Given the description of an element on the screen output the (x, y) to click on. 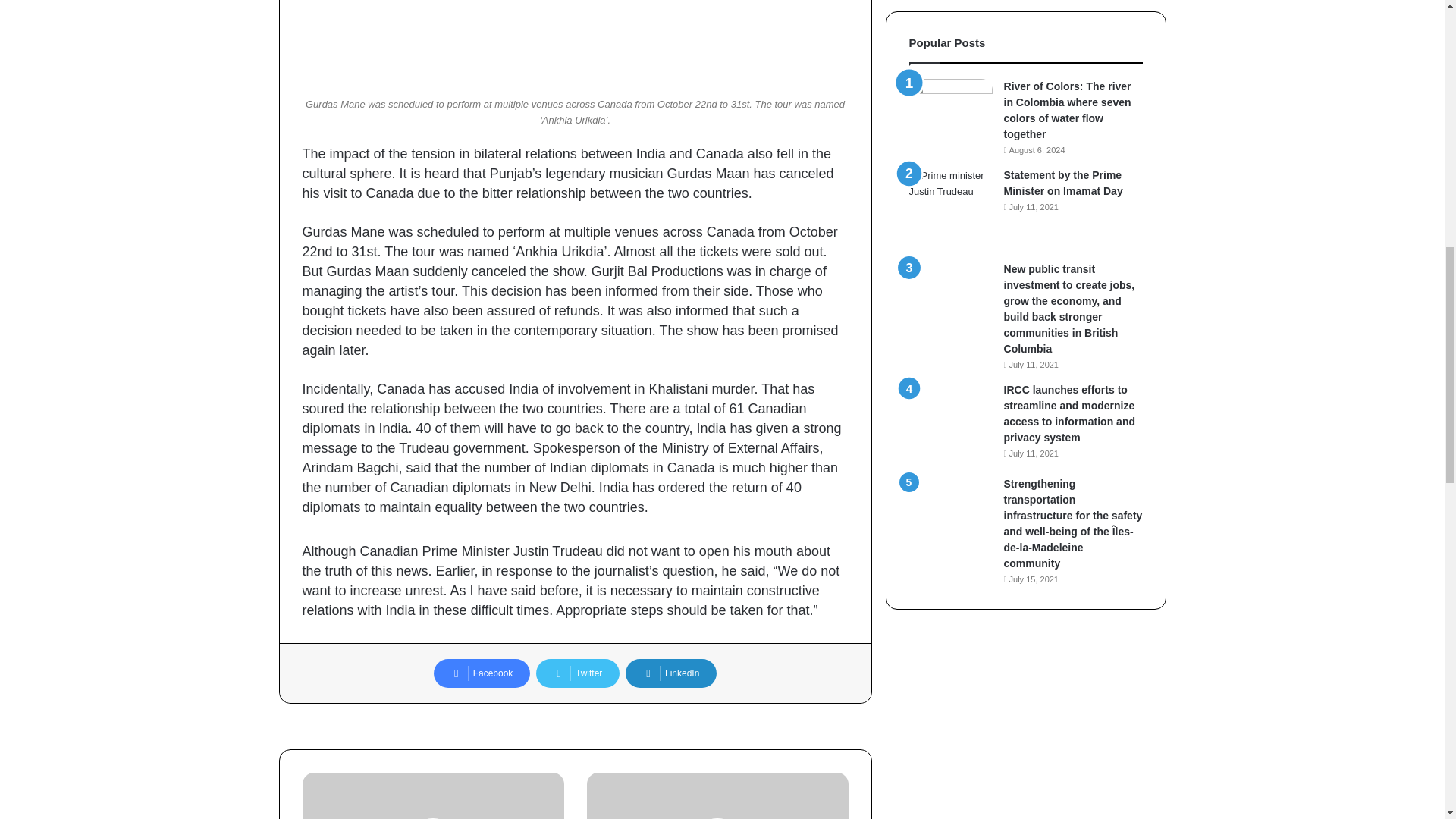
Twitter (577, 673)
LinkedIn (671, 673)
Facebook (482, 673)
Facebook (482, 673)
